Given the description of an element on the screen output the (x, y) to click on. 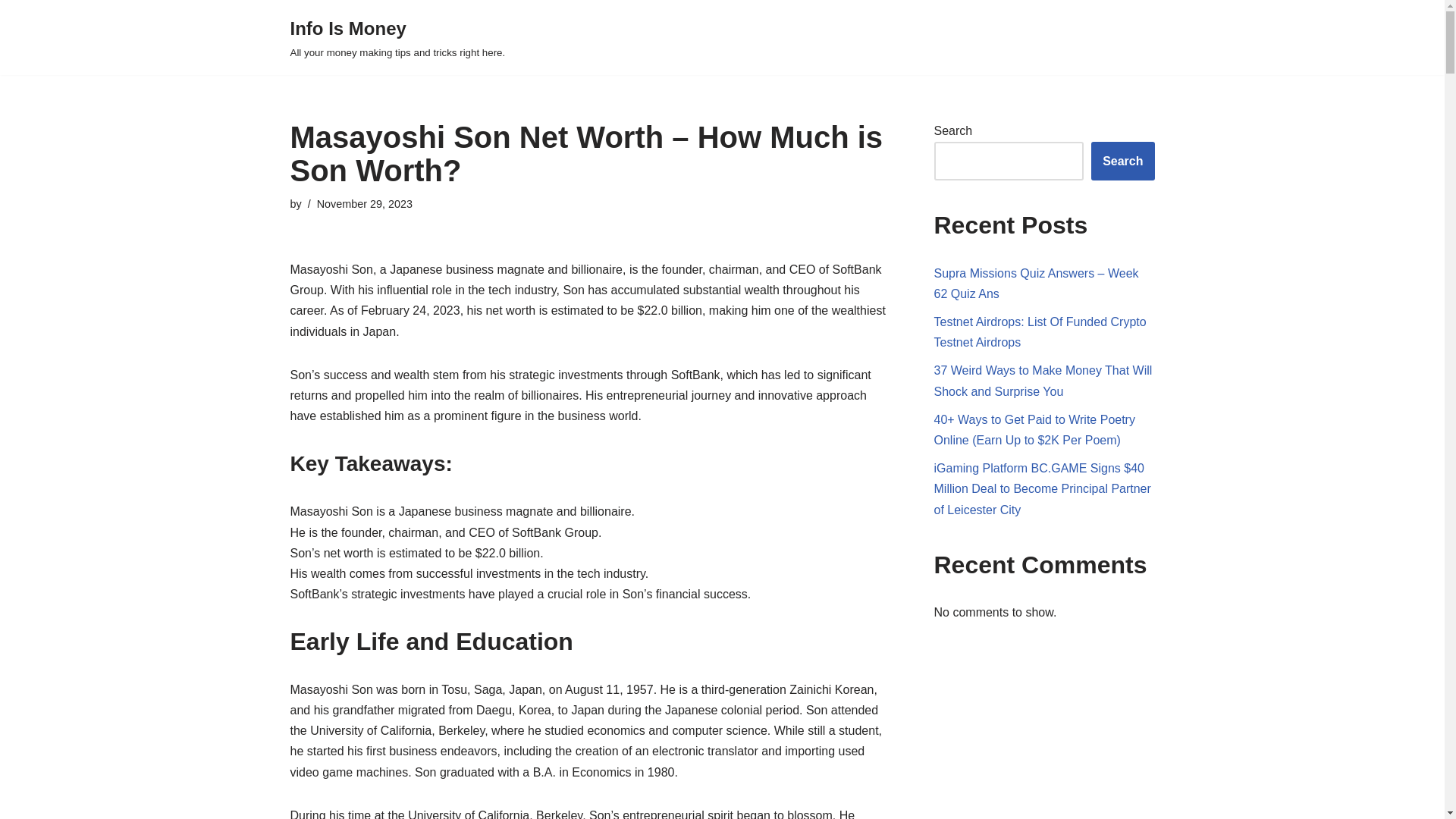
37 Weird Ways to Make Money That Will Shock and Surprise You (1043, 380)
Info Is Money (397, 37)
Search (1122, 160)
Skip to content (11, 31)
Testnet Airdrops: List Of Funded Crypto Testnet Airdrops (1040, 331)
